Given the description of an element on the screen output the (x, y) to click on. 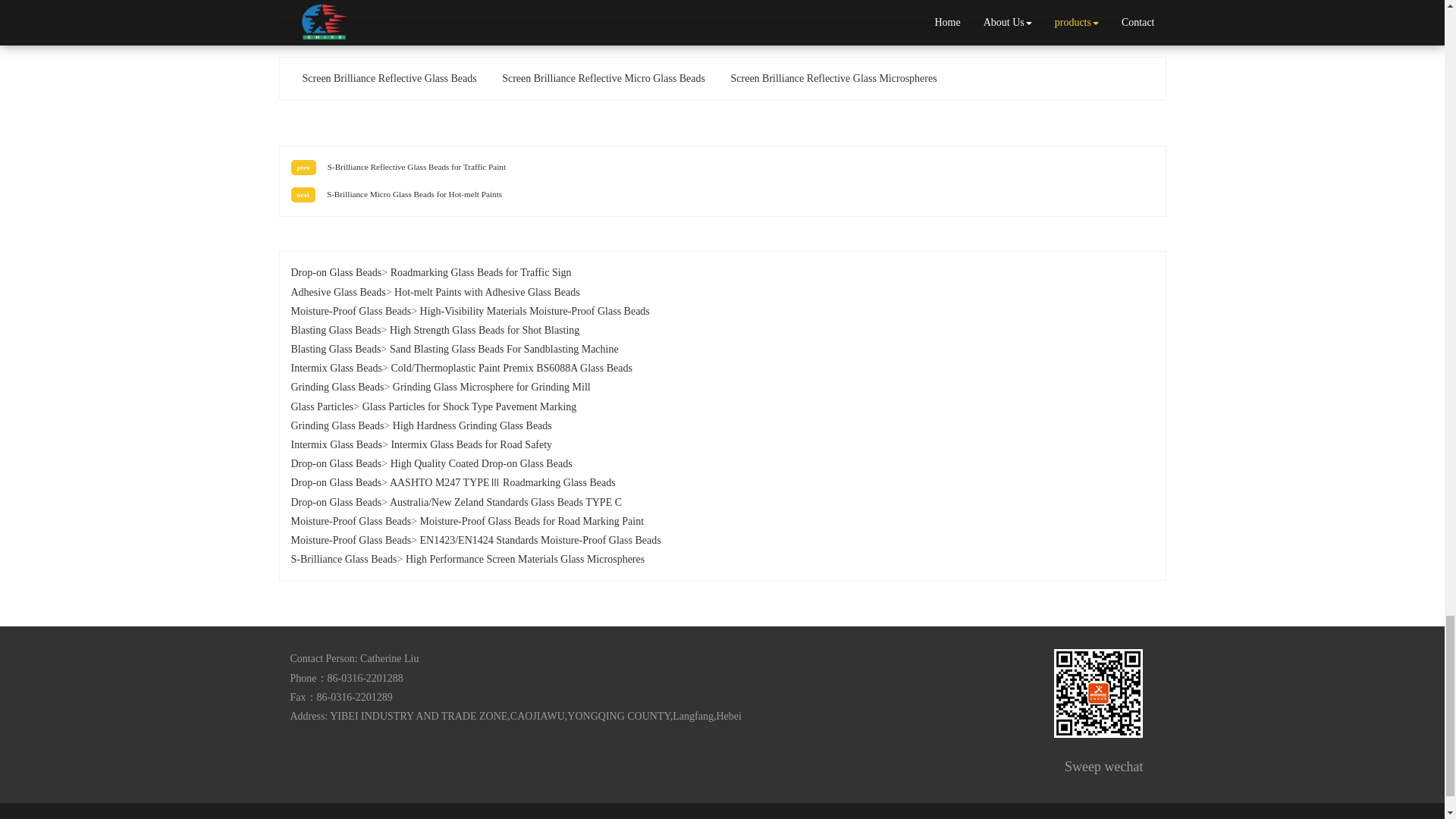
Adhesive Glass Beads (338, 291)
Screen Brilliance Reflective Micro Glass Beads (603, 78)
S-Brilliance Reflective Glass Beads for Traffic Paint (416, 166)
Screen Brilliance Reflective Glass Beads (389, 78)
Moisture-Proof Glass Beads (351, 310)
S-Brilliance Micro Glass Beads for Hot-melt Paints (414, 194)
High-Visibility Materials Moisture-Proof Glass Beads (534, 310)
Drop-on Glass Beads (336, 272)
Screen Brilliance Reflective Glass Microspheres (833, 78)
Hot-melt Paints with Adhesive Glass Beads (486, 291)
Roadmarking Glass Beads for Traffic Sign (481, 272)
Blasting Glass Beads (336, 329)
